Given the description of an element on the screen output the (x, y) to click on. 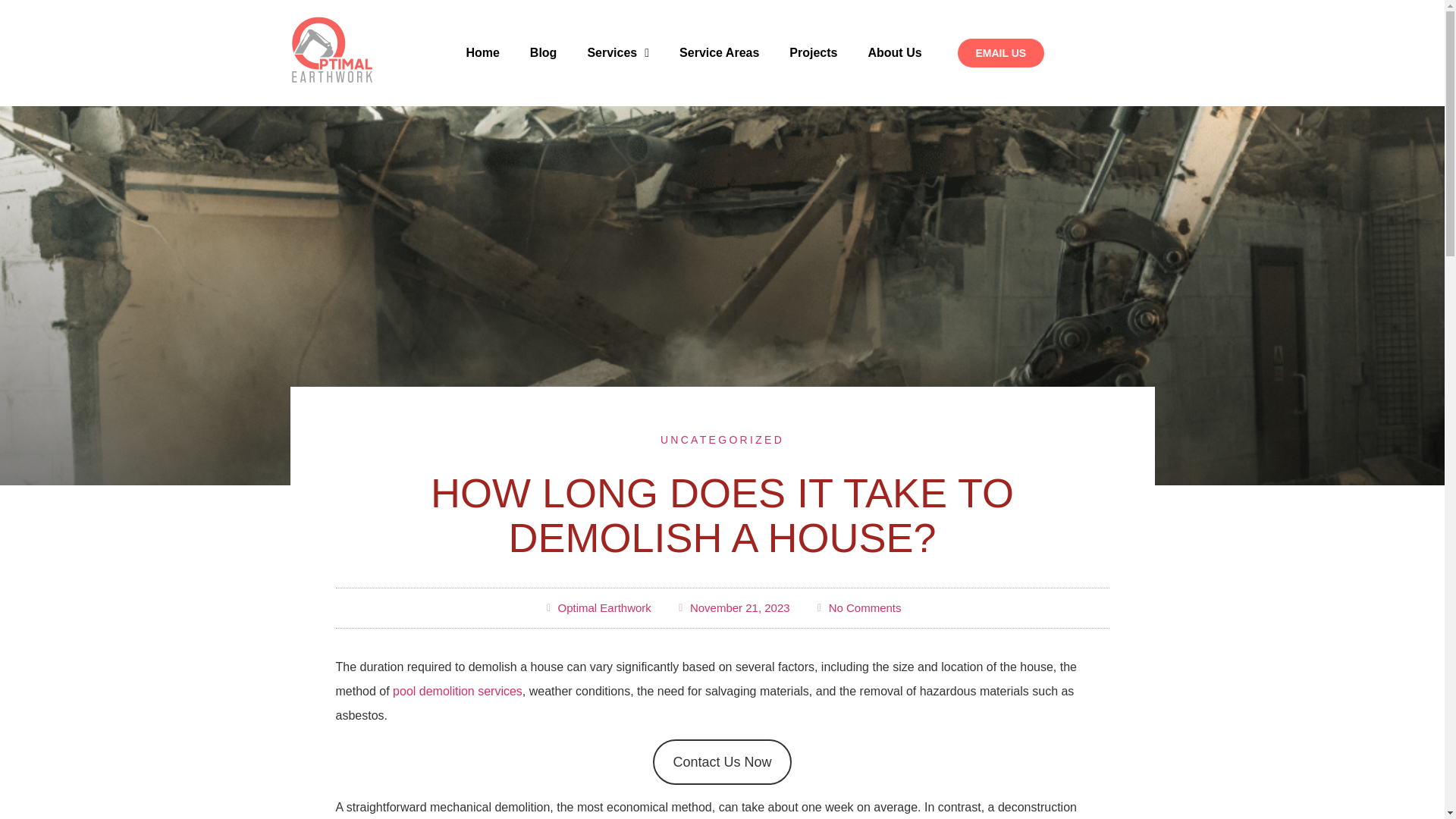
November 21, 2023 (732, 608)
Services (617, 53)
UNCATEGORIZED (722, 439)
Service Areas (718, 53)
pool demolition services (457, 690)
logo (331, 52)
Projects (812, 53)
EMAIL US (999, 52)
Contact Us Now (721, 761)
About Us (893, 53)
Home (481, 53)
Optimal Earthwork (596, 608)
No Comments (857, 608)
Blog (543, 53)
